Given the description of an element on the screen output the (x, y) to click on. 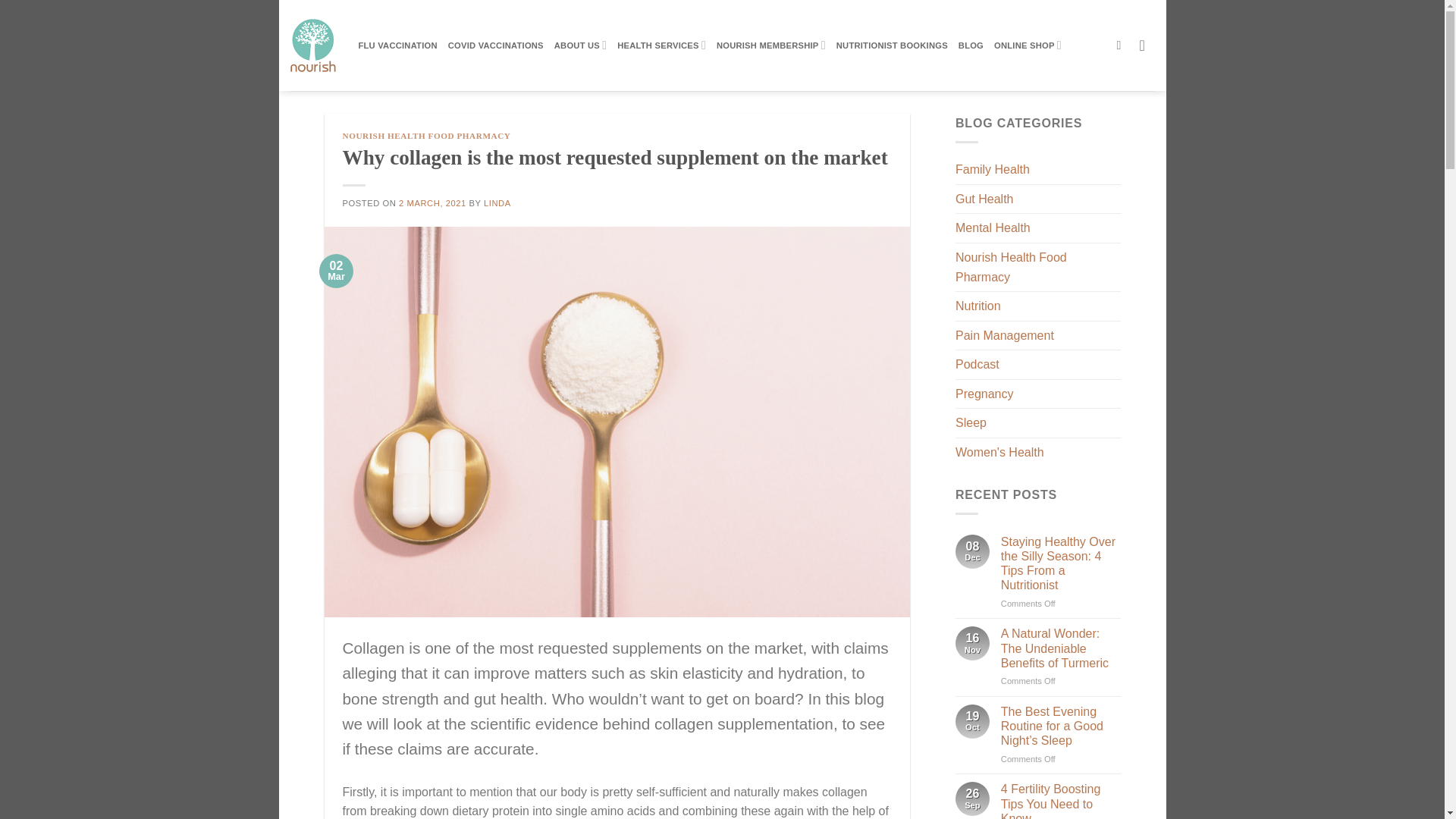
ABOUT US (580, 44)
HEALTH SERVICES (661, 44)
FLU VACCINATION (397, 44)
NOURISH MEMBERSHIP (770, 44)
COVID VACCINATIONS (495, 44)
